Given the description of an element on the screen output the (x, y) to click on. 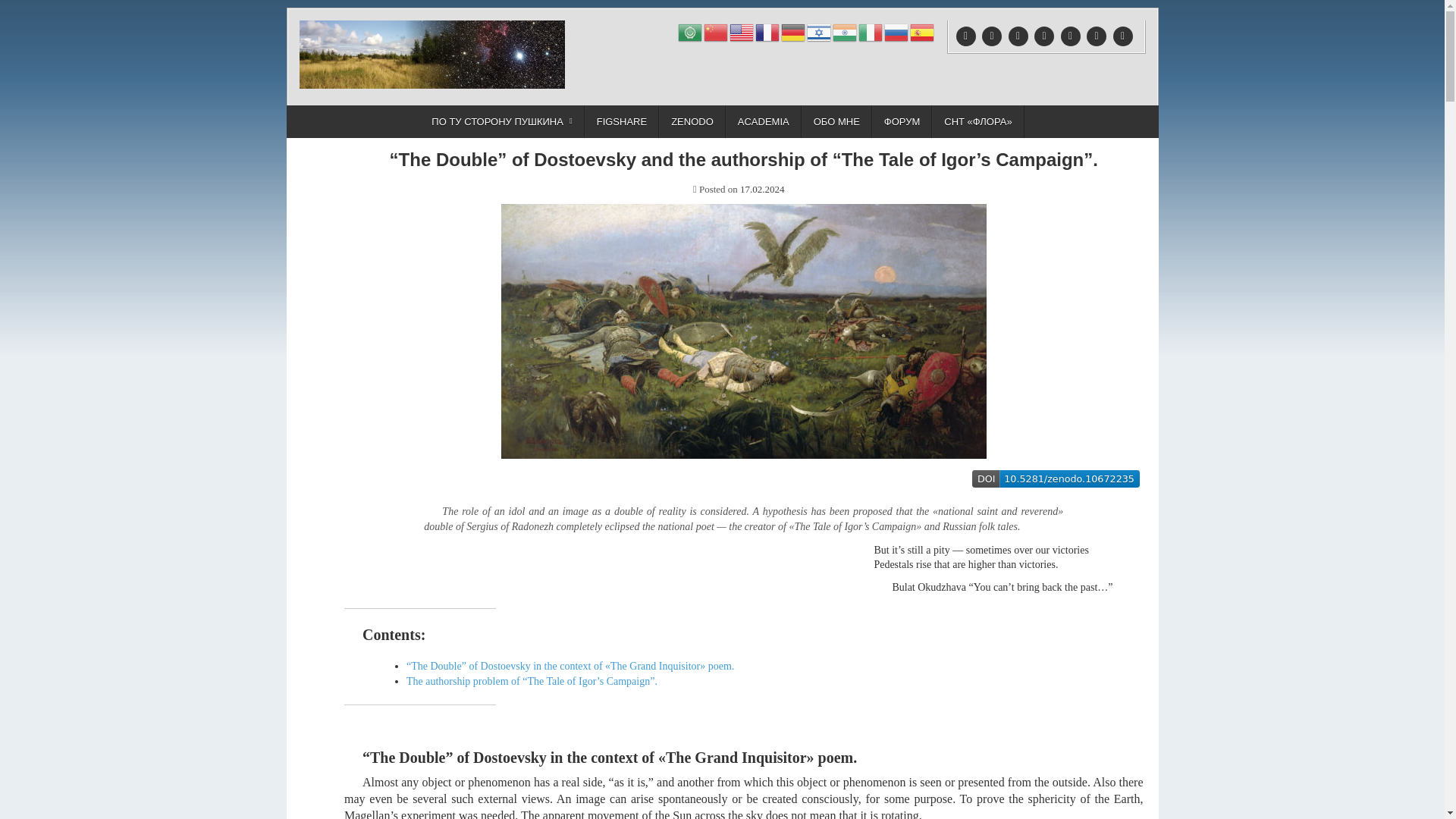
ZENODO (692, 121)
17.02.2024 (761, 188)
German (793, 30)
Arabic (690, 30)
Italian (871, 30)
English (742, 30)
FIGSHARE (622, 121)
Hebrew (819, 30)
ACADEMIA (763, 121)
French (767, 30)
Hindi (845, 30)
